Given the description of an element on the screen output the (x, y) to click on. 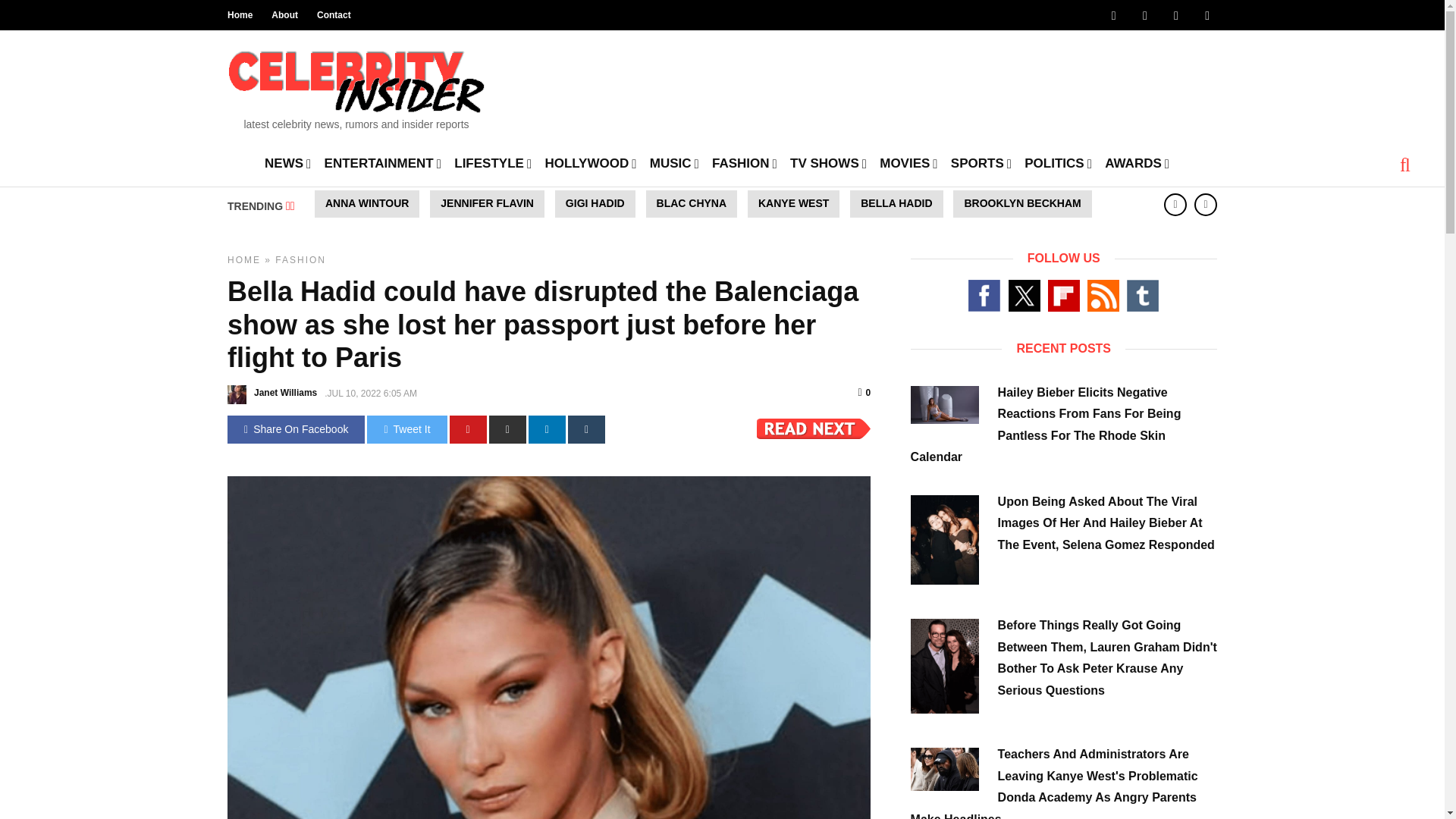
latest celebrity news, rumors and insider reports (355, 84)
Share On Reddit (507, 429)
KANYE WEST (794, 203)
Home (239, 14)
FASHION (744, 162)
Share On Tumblr (586, 429)
NEWS (287, 162)
HOLLYWOOD (590, 162)
AWARDS (1136, 162)
BLAC CHYNA (692, 203)
